Given the description of an element on the screen output the (x, y) to click on. 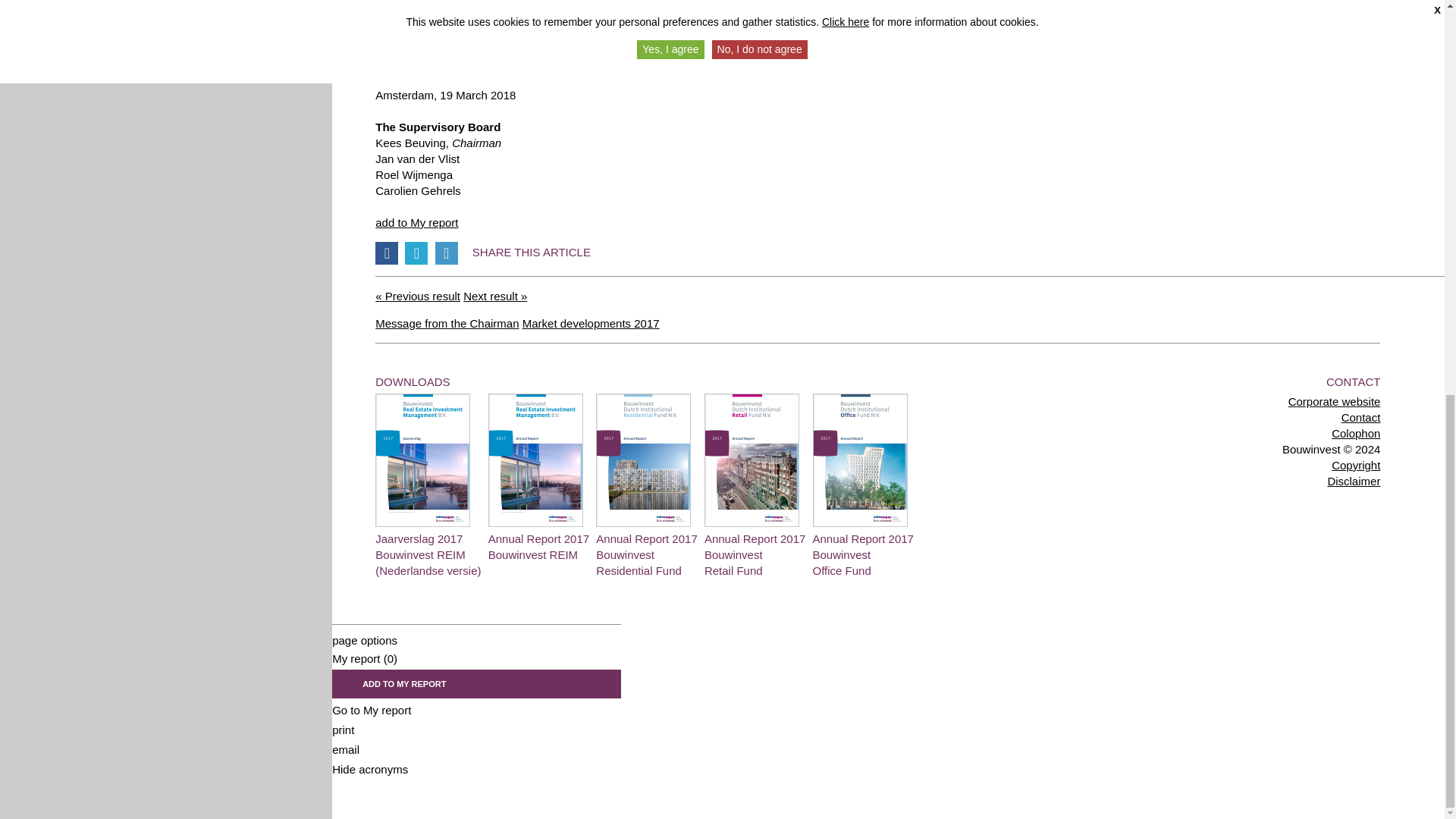
Bouwinvest-Residential (646, 547)
Contact (1360, 417)
Bouwinvest-Retail (754, 547)
Bouwinvest-REIM (427, 547)
Message from the Chairman (446, 323)
Colophon (1356, 432)
Message from the Chairman (417, 295)
Share on twitter (416, 252)
Message from the Chairman (646, 547)
Share on facebook (446, 323)
Market developments 2017 (754, 547)
